Given the description of an element on the screen output the (x, y) to click on. 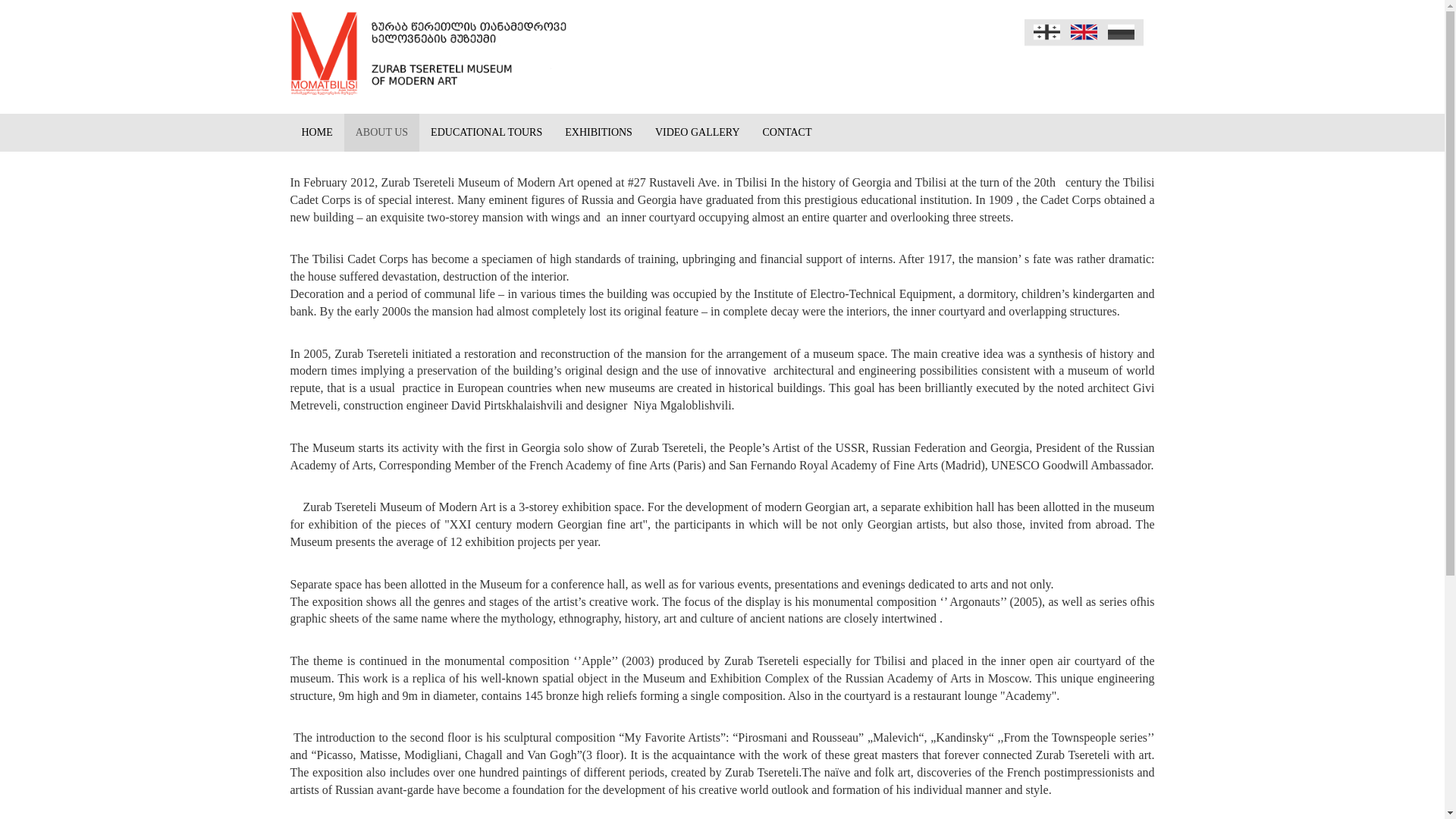
HOME (316, 132)
VIDEO GALLERY (697, 132)
ABOUT US (381, 132)
EXHIBITIONS (598, 132)
CONTACT (787, 132)
EDUCATIONAL TOURS (486, 132)
